Given the description of an element on the screen output the (x, y) to click on. 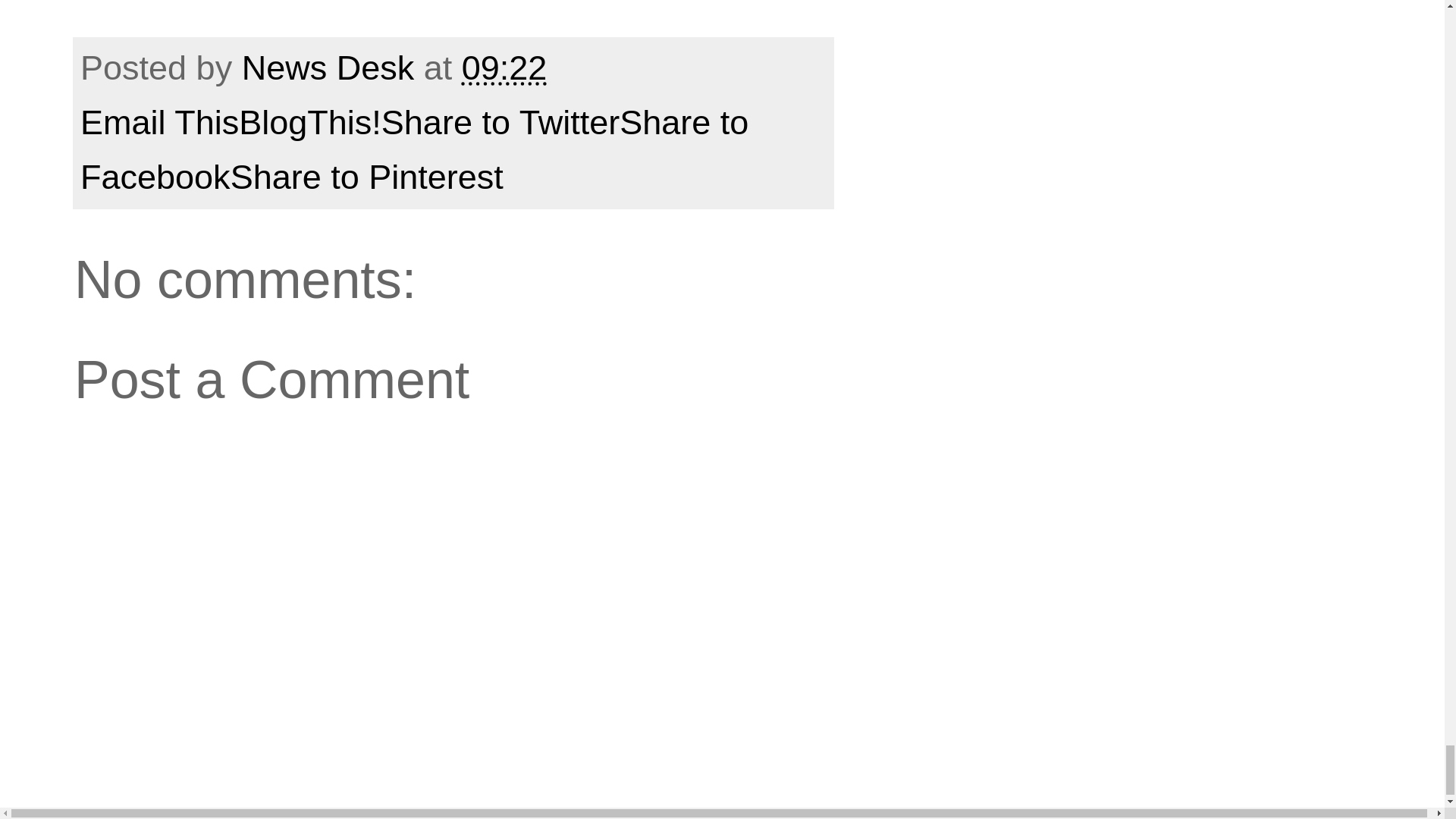
Share to Facebook (414, 149)
Share to Facebook (414, 149)
09:22 (504, 67)
News Desk (332, 67)
Share to Twitter (500, 122)
author profile (332, 67)
BlogThis! (309, 122)
Share to Pinterest (366, 177)
Share to Pinterest (366, 177)
Email This (159, 122)
